Given the description of an element on the screen output the (x, y) to click on. 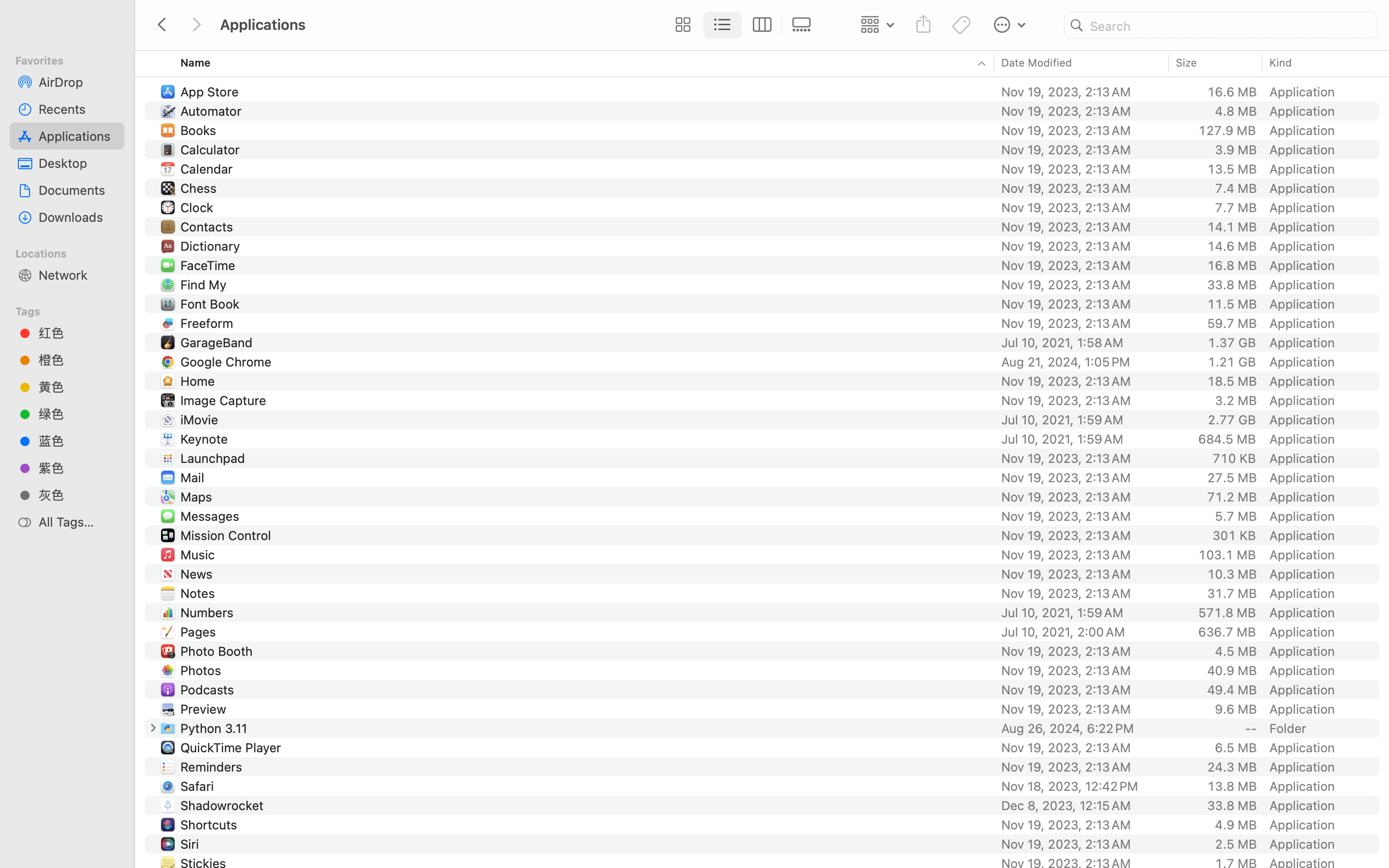
Keynote Element type: AXTextField (206, 438)
Music Element type: AXTextField (199, 554)
2.5 MB Element type: AXStaticText (1235, 843)
绿色 Element type: AXStaticText (77, 413)
16.8 MB Element type: AXStaticText (1231, 264)
